Given the description of an element on the screen output the (x, y) to click on. 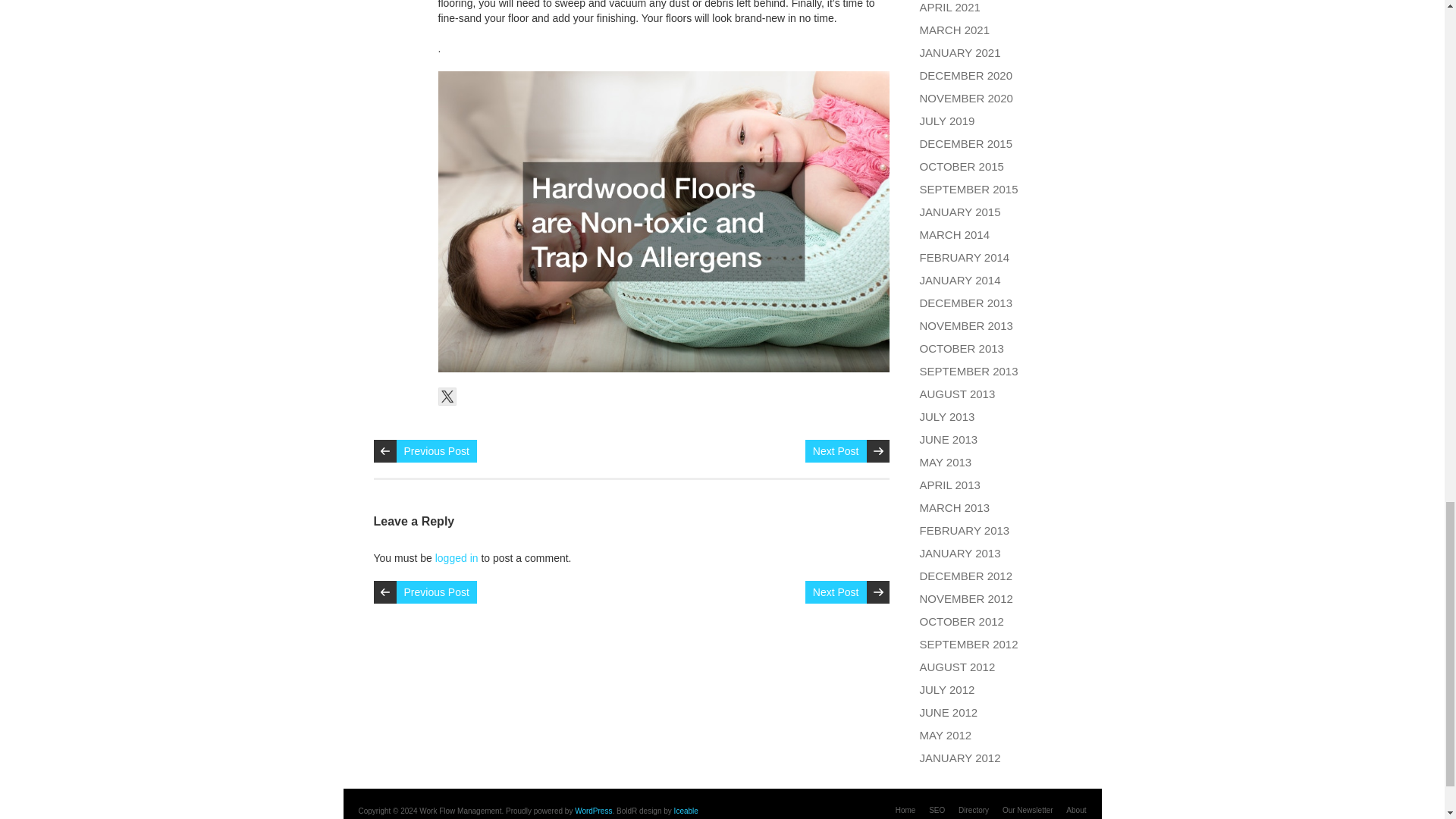
Next Post (835, 591)
Previous Post (436, 591)
Semantic Personal Publishing Platform (593, 810)
logged in (457, 558)
Share on Twitter (447, 396)
Next Post (835, 450)
Previous Post (436, 450)
